Given the description of an element on the screen output the (x, y) to click on. 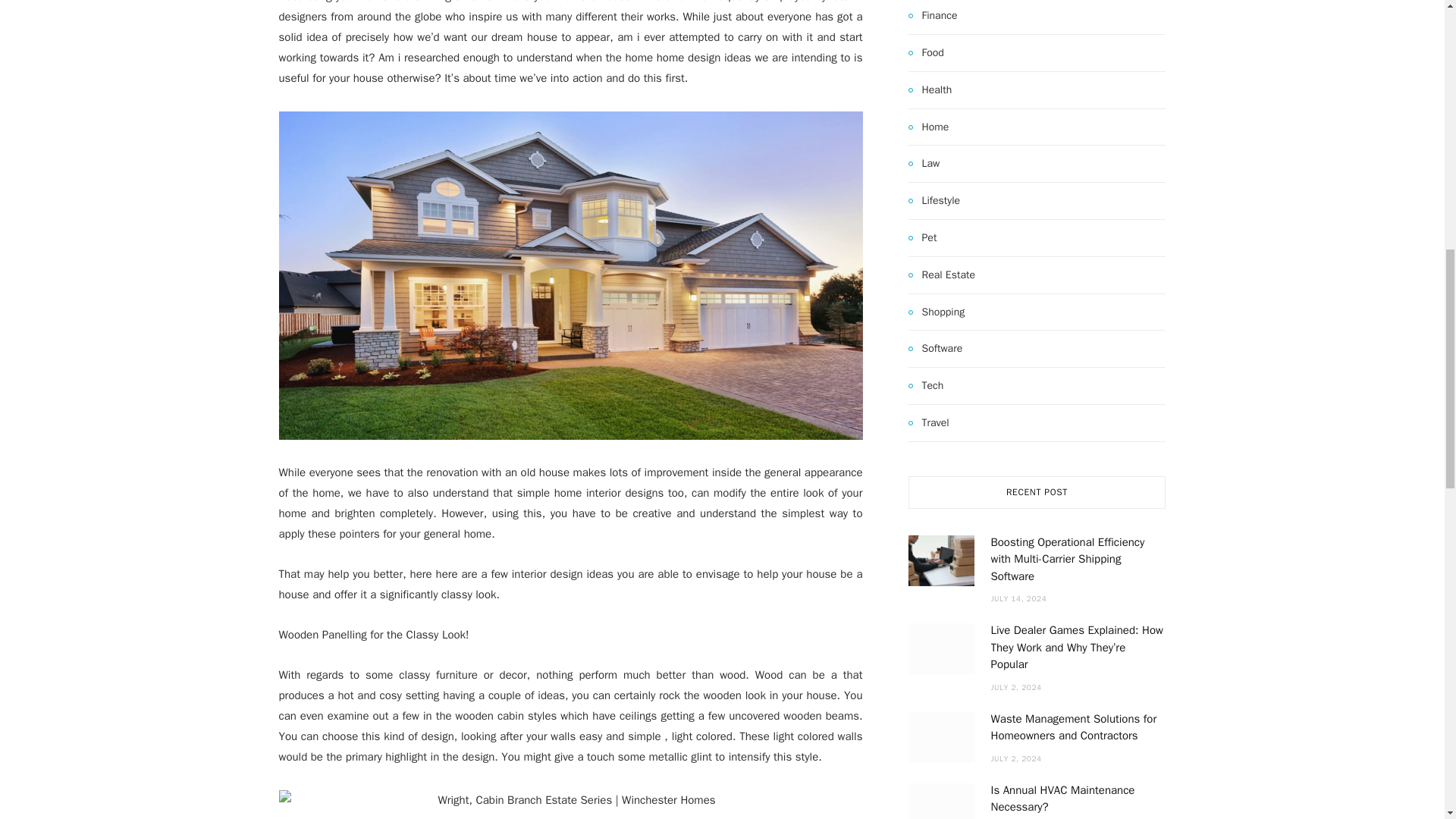
Home (928, 126)
Law (924, 163)
Finance (933, 15)
Food (925, 53)
Lifestyle (934, 200)
Health (930, 90)
